Given the description of an element on the screen output the (x, y) to click on. 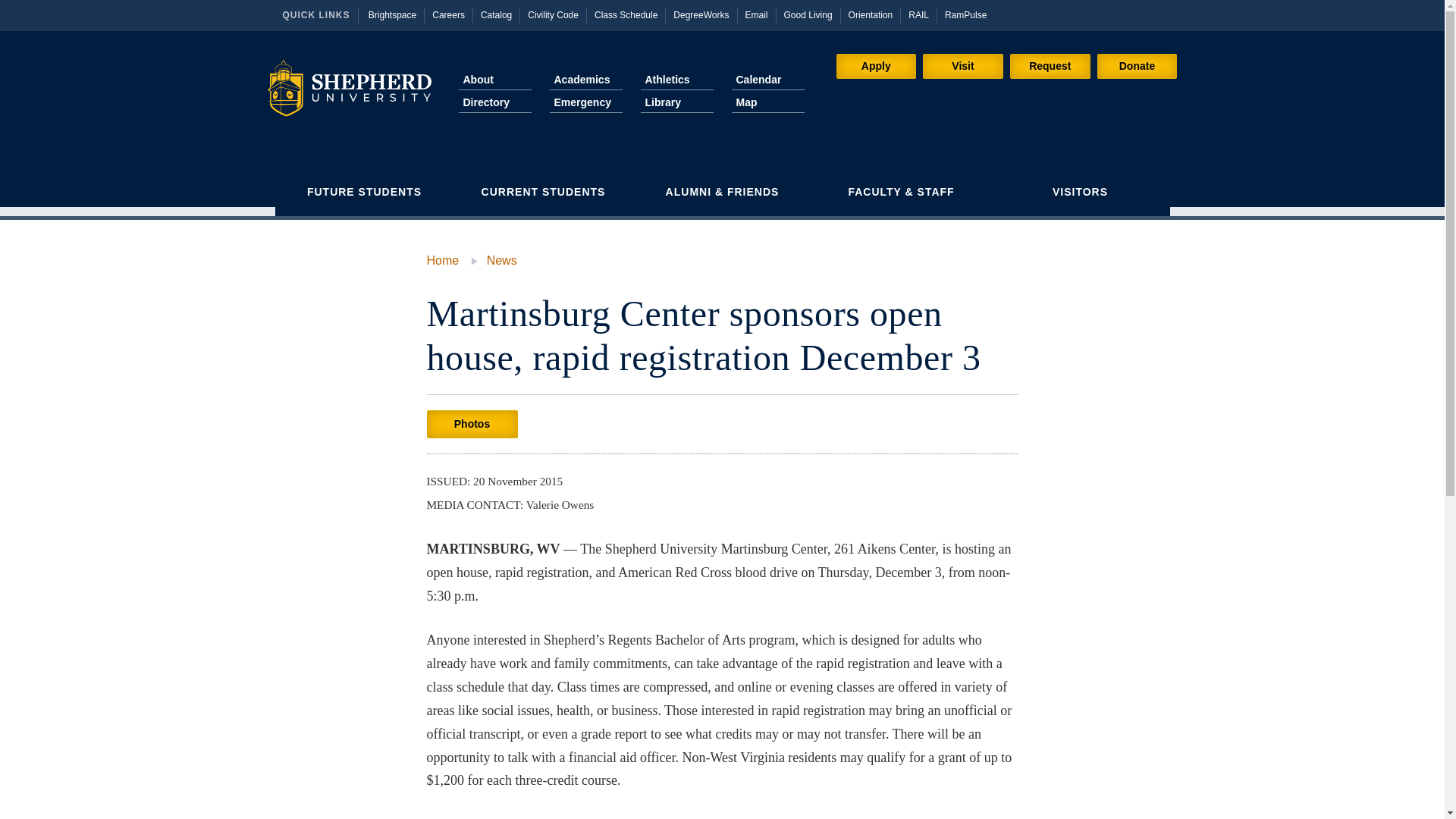
Map (766, 102)
Class Schedule (625, 14)
Academics (584, 79)
Library (676, 102)
Orientation (871, 14)
Directory (494, 102)
Request (1050, 66)
Shepherd University Athletics (676, 79)
Class Schedule (625, 14)
Orientation (871, 14)
Calendar (766, 79)
Directory (494, 102)
Catalog (496, 14)
RamPulse (965, 14)
About (494, 79)
